Given the description of an element on the screen output the (x, y) to click on. 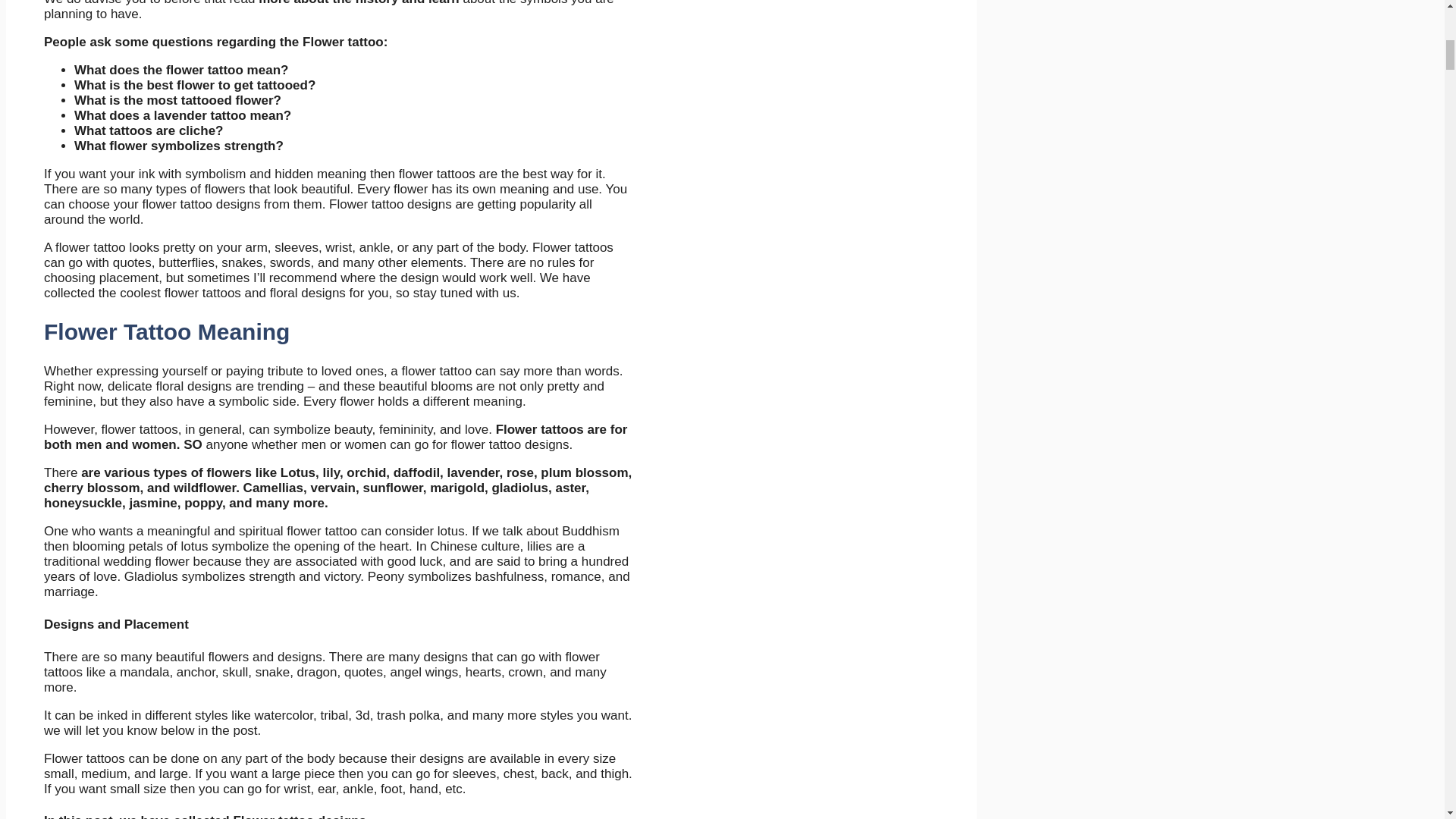
Scroll back to top (1406, 720)
